Given the description of an element on the screen output the (x, y) to click on. 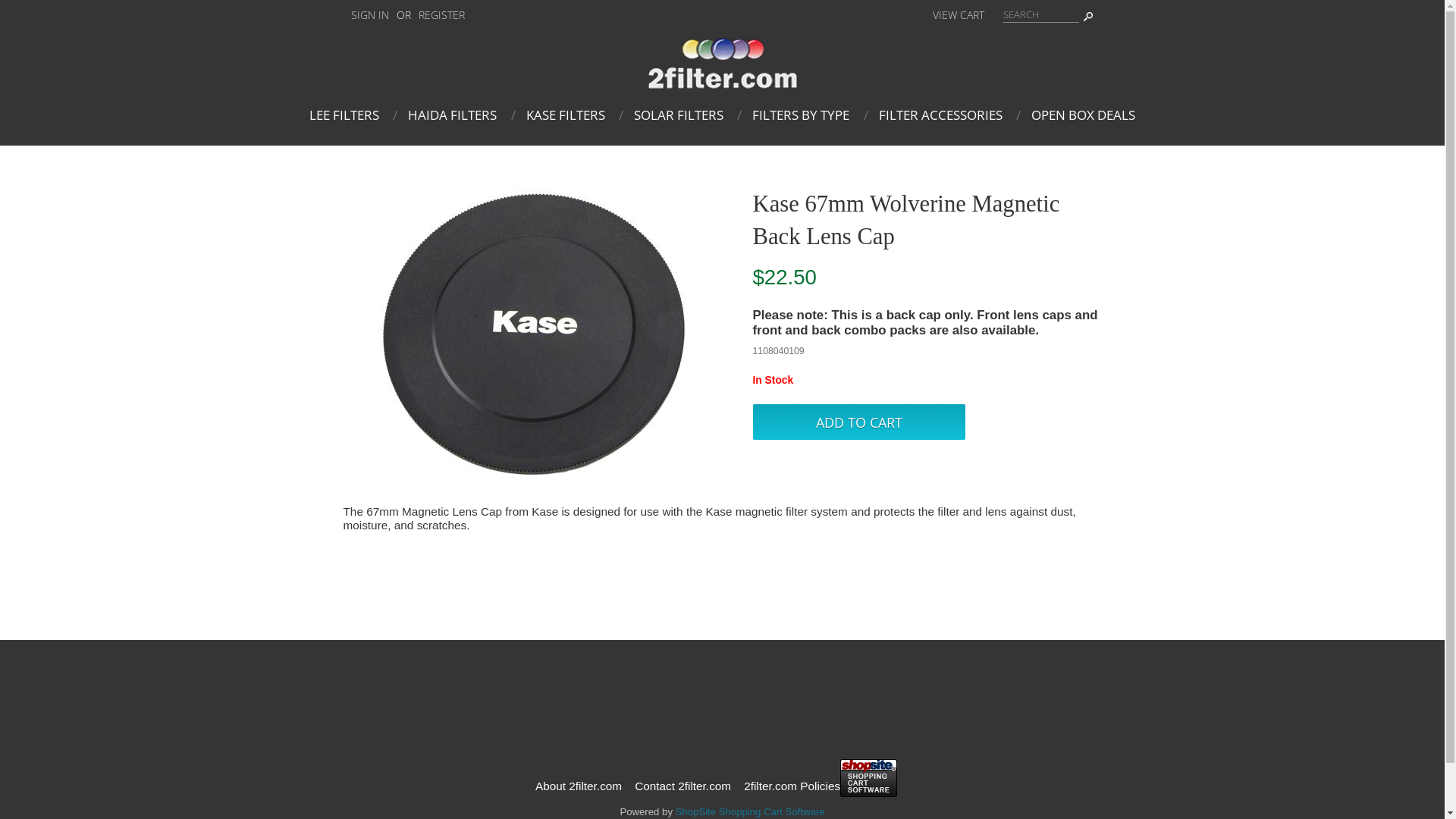
SIGN IN Element type: text (368, 14)
VIEW CART Element type: text (958, 14)
Add To Cart Element type: text (858, 421)
REGISTER Element type: text (441, 14)
LEE FILTERS Element type: text (343, 115)
KASE FILTERS Element type: text (563, 115)
OPEN BOX DEALS Element type: text (1080, 115)
HAIDA FILTERS Element type: text (449, 115)
2filter.com Policies Element type: text (790, 785)
ShopSite Shopping Cart Software Element type: text (750, 811)
2filter.com Element type: hover (721, 84)
FILTERS BY TYPE Element type: text (798, 115)
FILTER ACCESSORIES Element type: text (938, 115)
SOLAR FILTERS Element type: text (676, 115)
Contact 2filter.com Element type: text (682, 785)
About 2filter.com Element type: text (579, 785)
Go Element type: text (1089, 13)
